Given the description of an element on the screen output the (x, y) to click on. 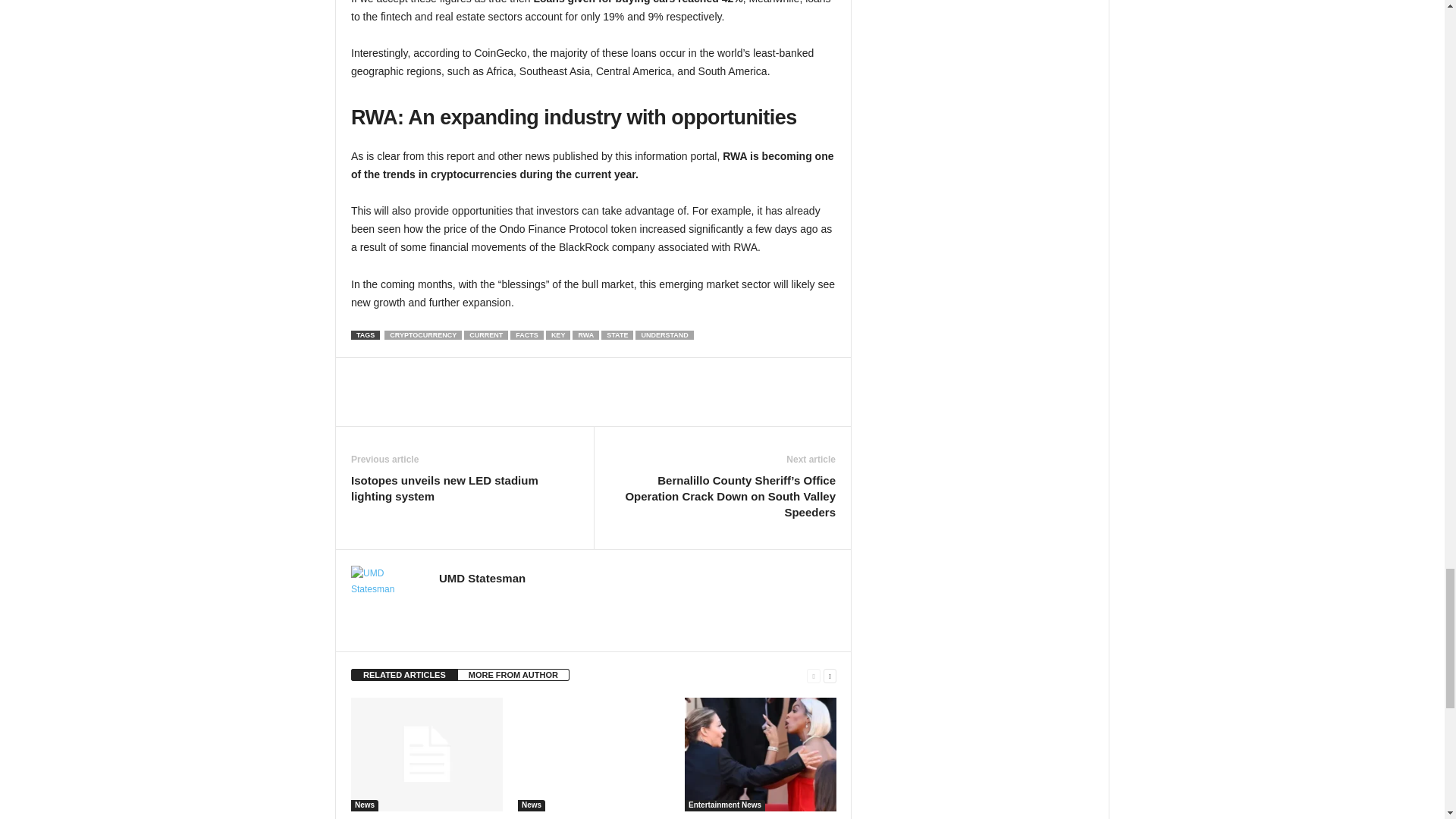
FACTS (527, 334)
CURRENT (486, 334)
CRYPTOCURRENCY (422, 334)
STATE (617, 334)
KEY (558, 334)
UNDERSTAND (663, 334)
RWA (585, 334)
